Given the description of an element on the screen output the (x, y) to click on. 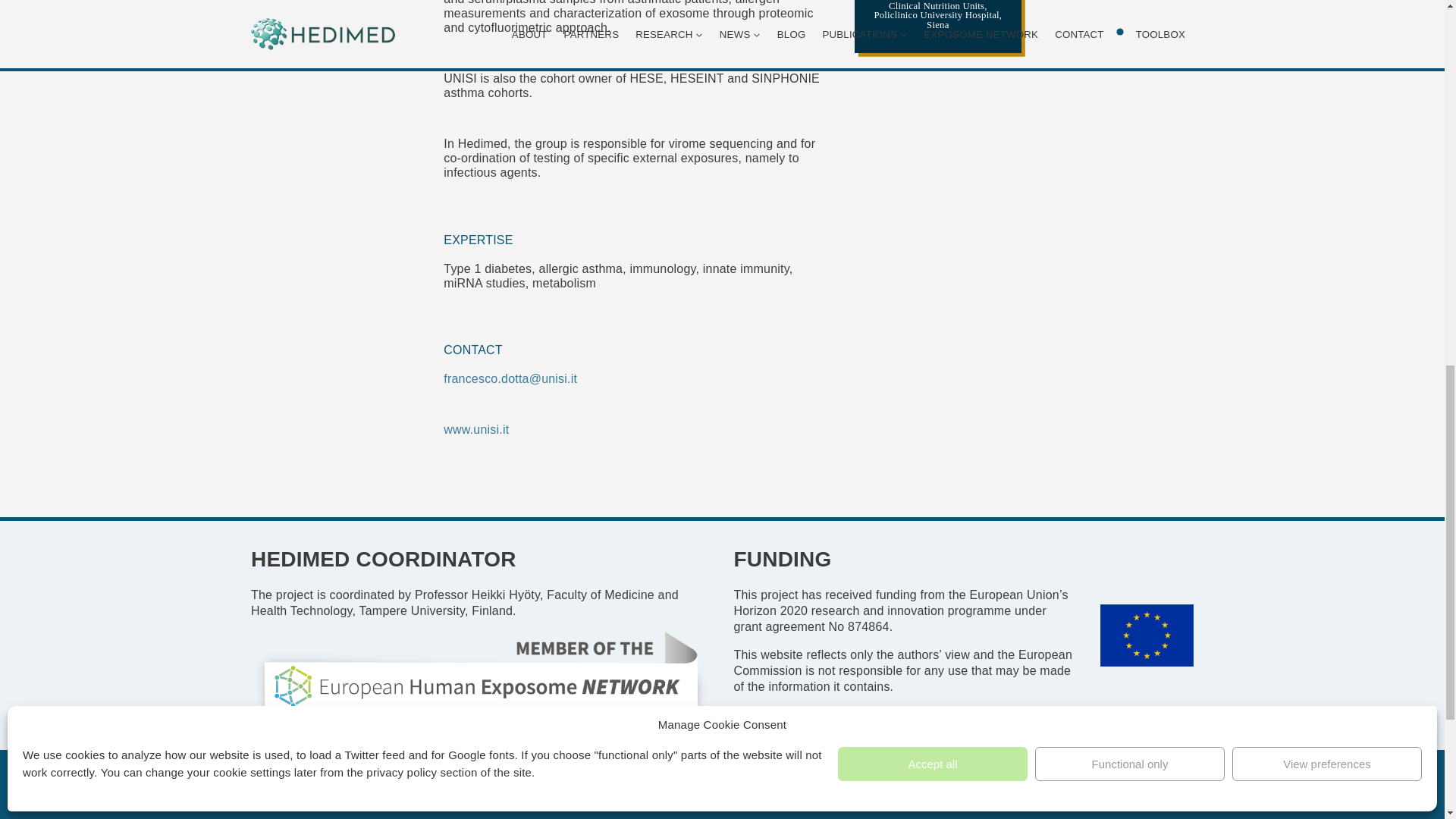
www.unisi.it (476, 429)
